Given the description of an element on the screen output the (x, y) to click on. 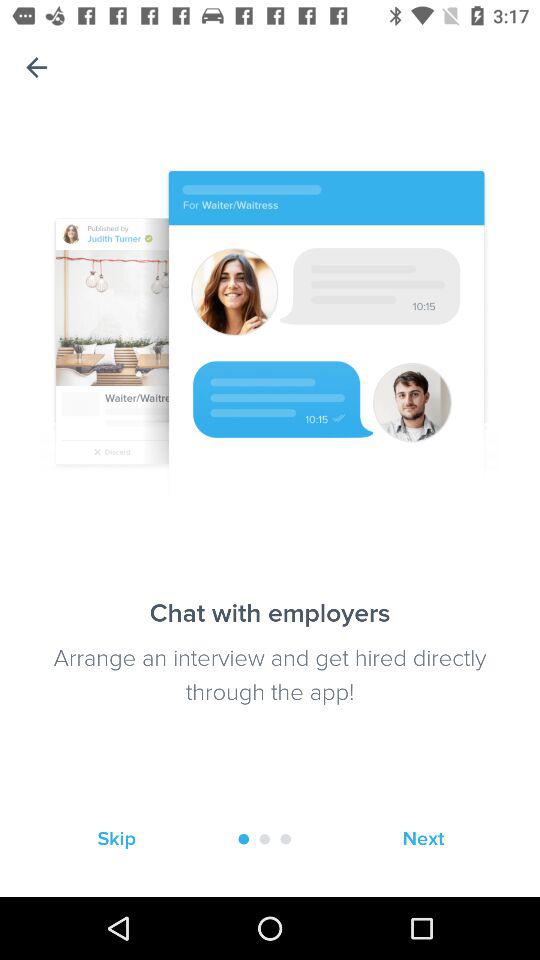
tap item at the bottom left corner (116, 838)
